Given the description of an element on the screen output the (x, y) to click on. 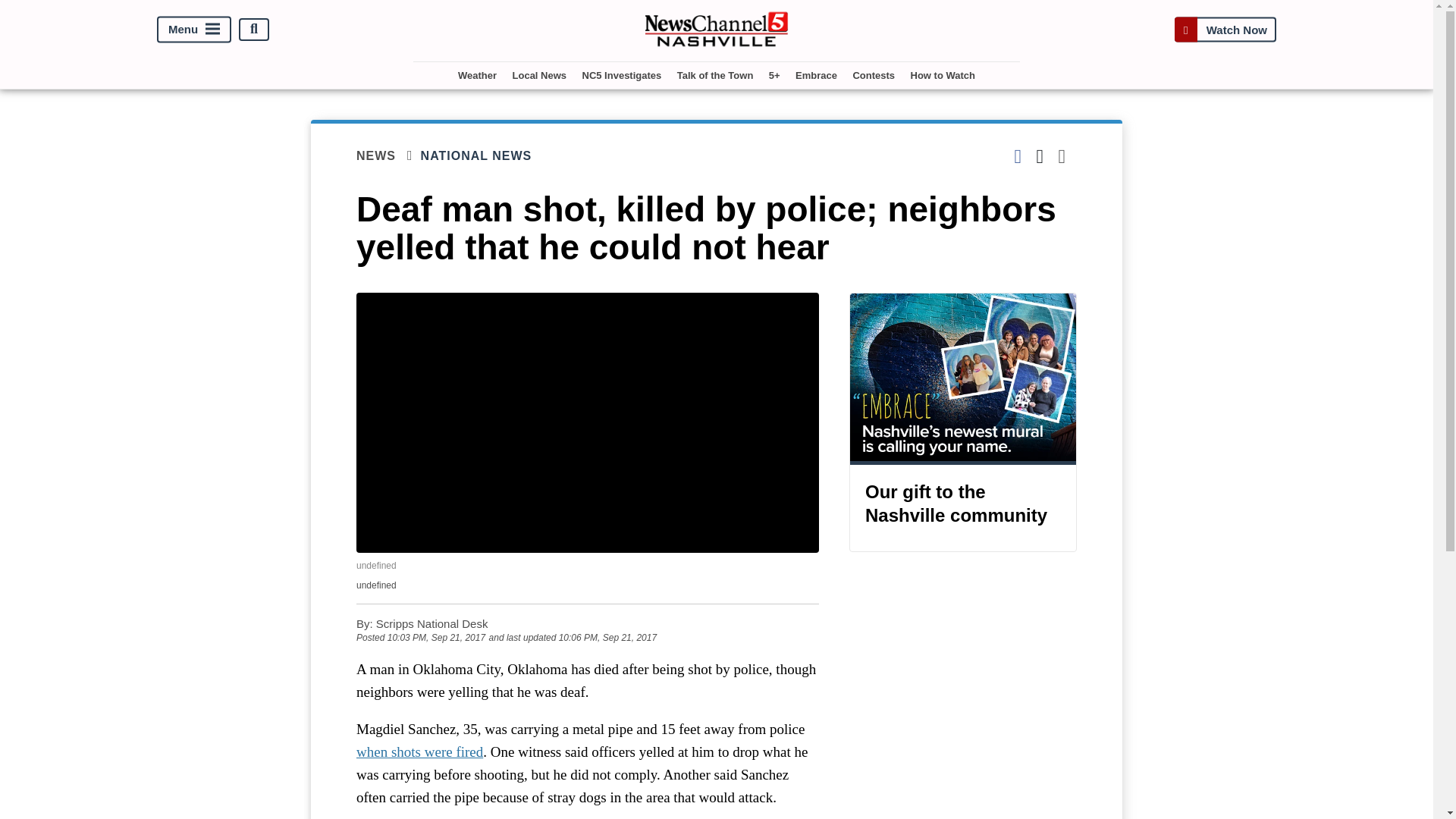
Watch Now (1224, 29)
Menu (194, 28)
